Given the description of an element on the screen output the (x, y) to click on. 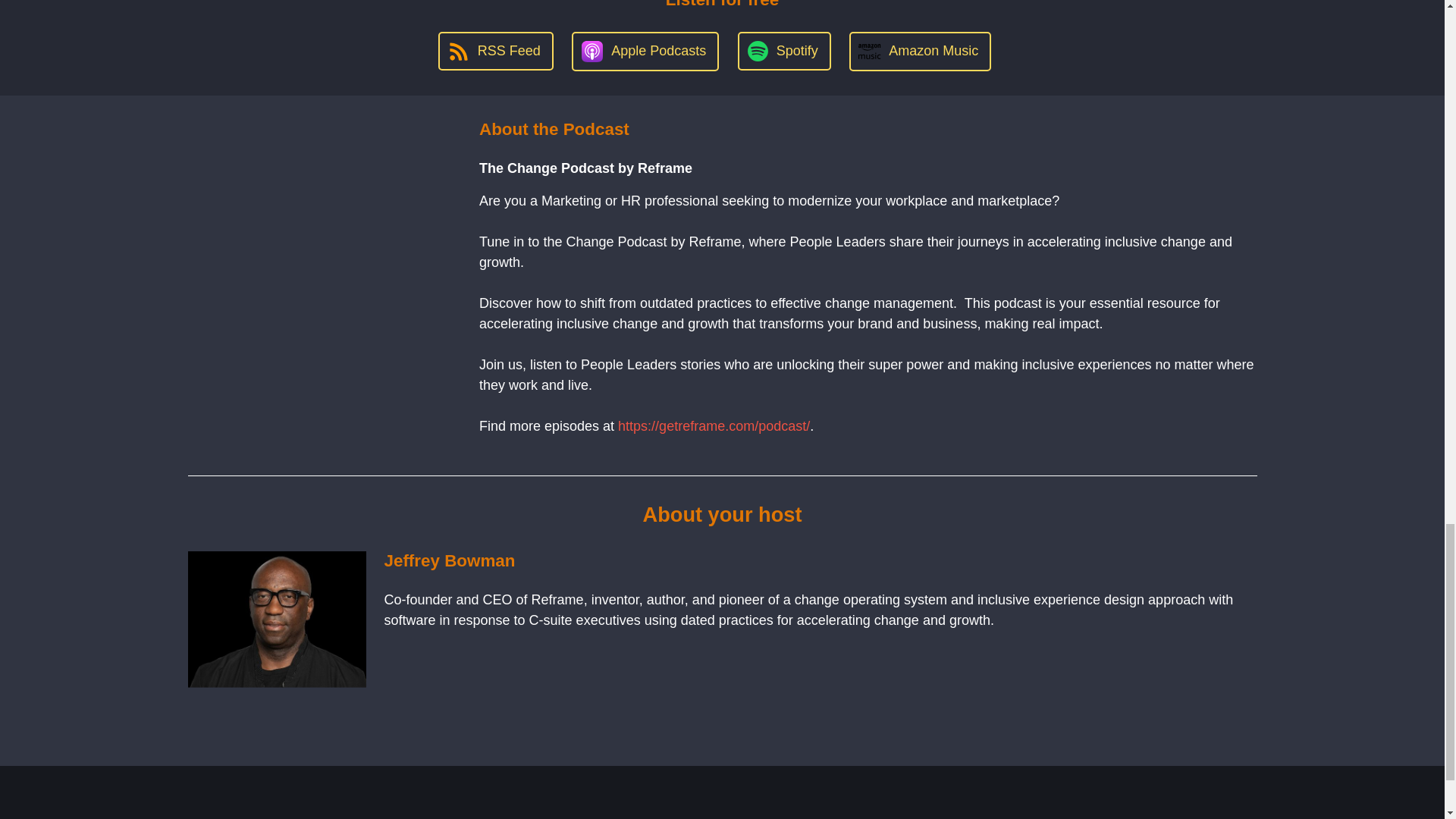
RSS Feed (495, 50)
Apple Podcasts (645, 51)
Amazon Music (919, 51)
Spotify (784, 50)
